Given the description of an element on the screen output the (x, y) to click on. 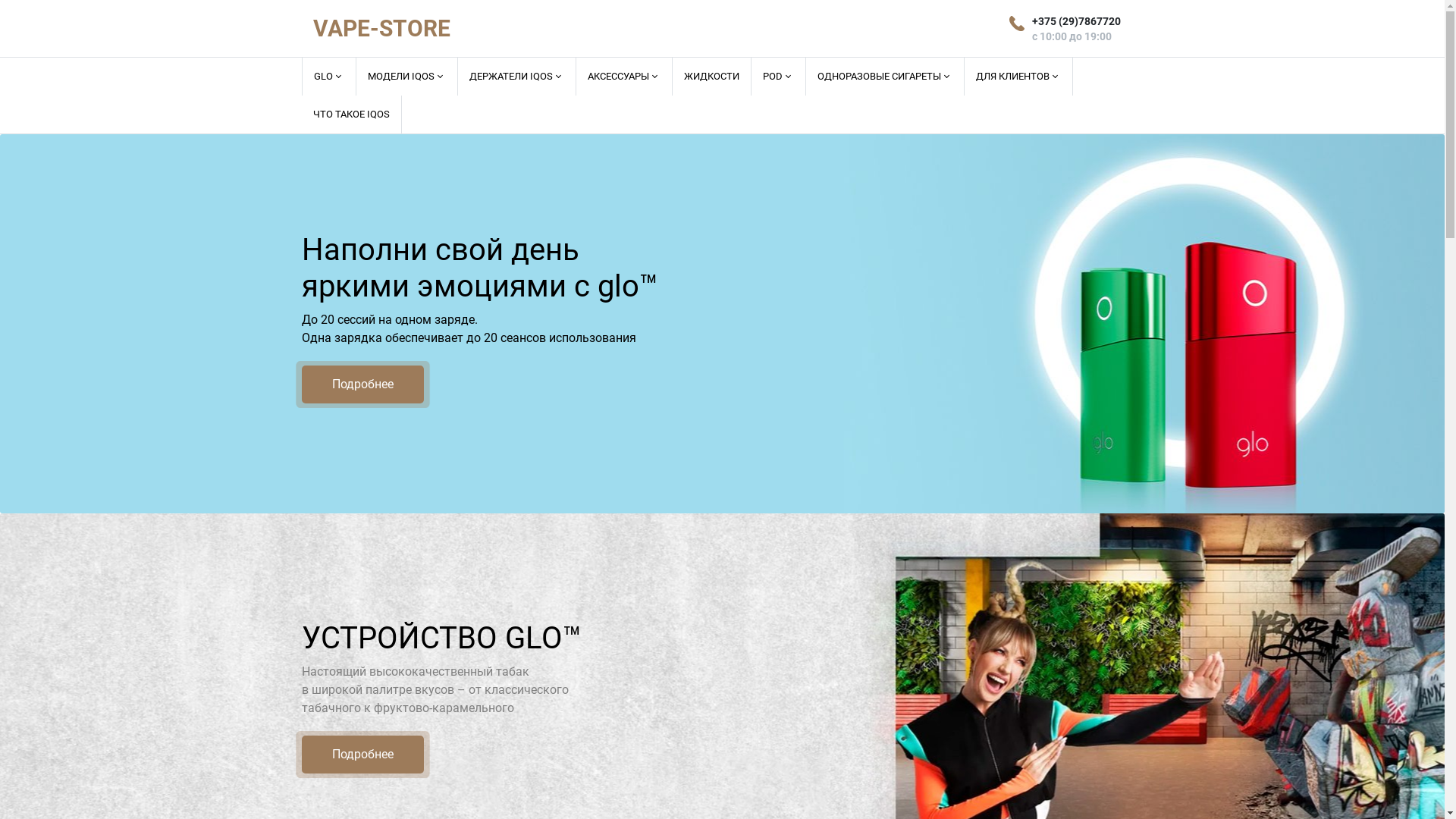
POD Element type: text (777, 76)
VAPE-STORE Element type: text (380, 28)
GLO Element type: text (328, 76)
